Given the description of an element on the screen output the (x, y) to click on. 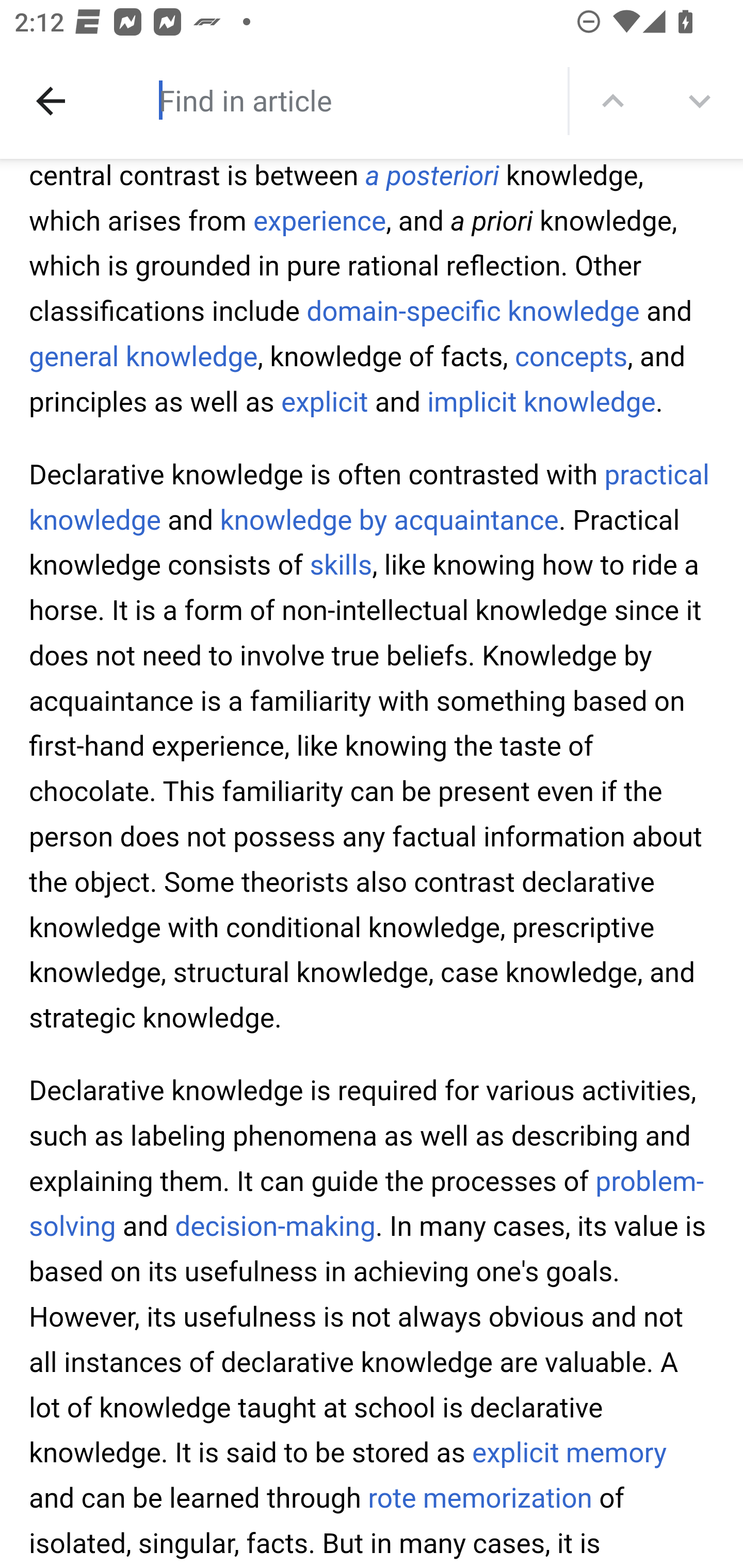
Done (50, 101)
Find previous (612, 101)
Find next (699, 101)
Find in article (334, 100)
a posteriori (432, 176)
experience (319, 222)
domain-specific knowledge (472, 313)
general knowledge (142, 357)
concepts (571, 357)
explicit (324, 402)
implicit knowledge (541, 402)
practical knowledge (369, 499)
knowledge by acquaintance (388, 521)
skills (340, 567)
problem-solving (366, 1205)
decision-making (275, 1227)
explicit memory (569, 1453)
rote memorization (479, 1500)
